Given the description of an element on the screen output the (x, y) to click on. 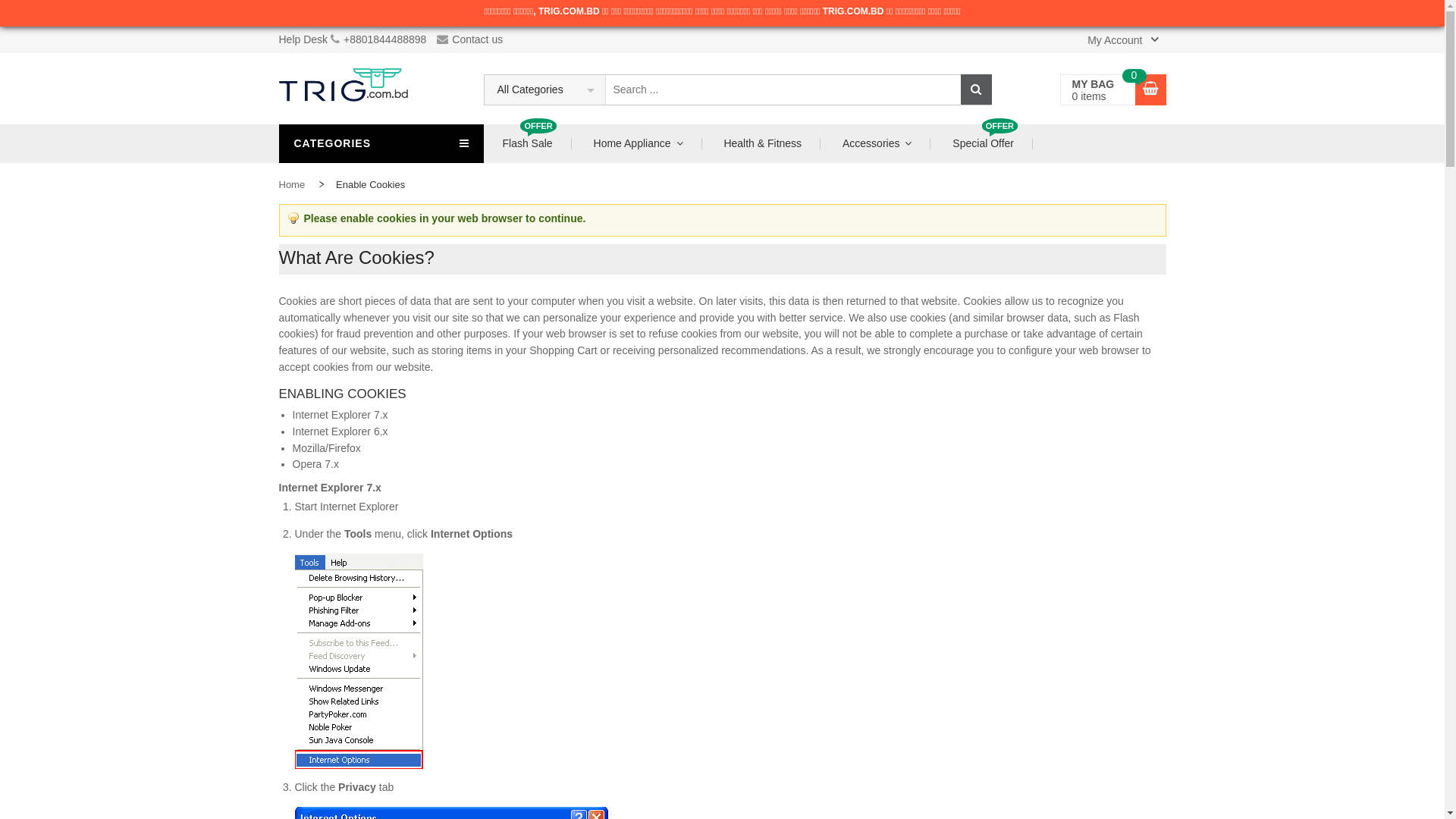
Health & Fitness Element type: text (762, 143)
+8801844488898 Element type: text (384, 39)
TRIG Element type: hover (343, 88)
Internet Explorer 7.x Element type: text (340, 414)
Internet Explorer 6.x Element type: text (340, 431)
Home Appliance Element type: text (638, 143)
Mozilla/Firefox Element type: text (326, 448)
Home Element type: text (292, 184)
Special Offer
OFFER Element type: text (982, 143)
All Categories Element type: text (543, 89)
Flash Sale
OFFER Element type: text (527, 143)
Contact us Element type: text (473, 39)
Search Element type: hover (975, 89)
Accessories Element type: text (876, 143)
Opera 7.x Element type: text (315, 464)
